Given the description of an element on the screen output the (x, y) to click on. 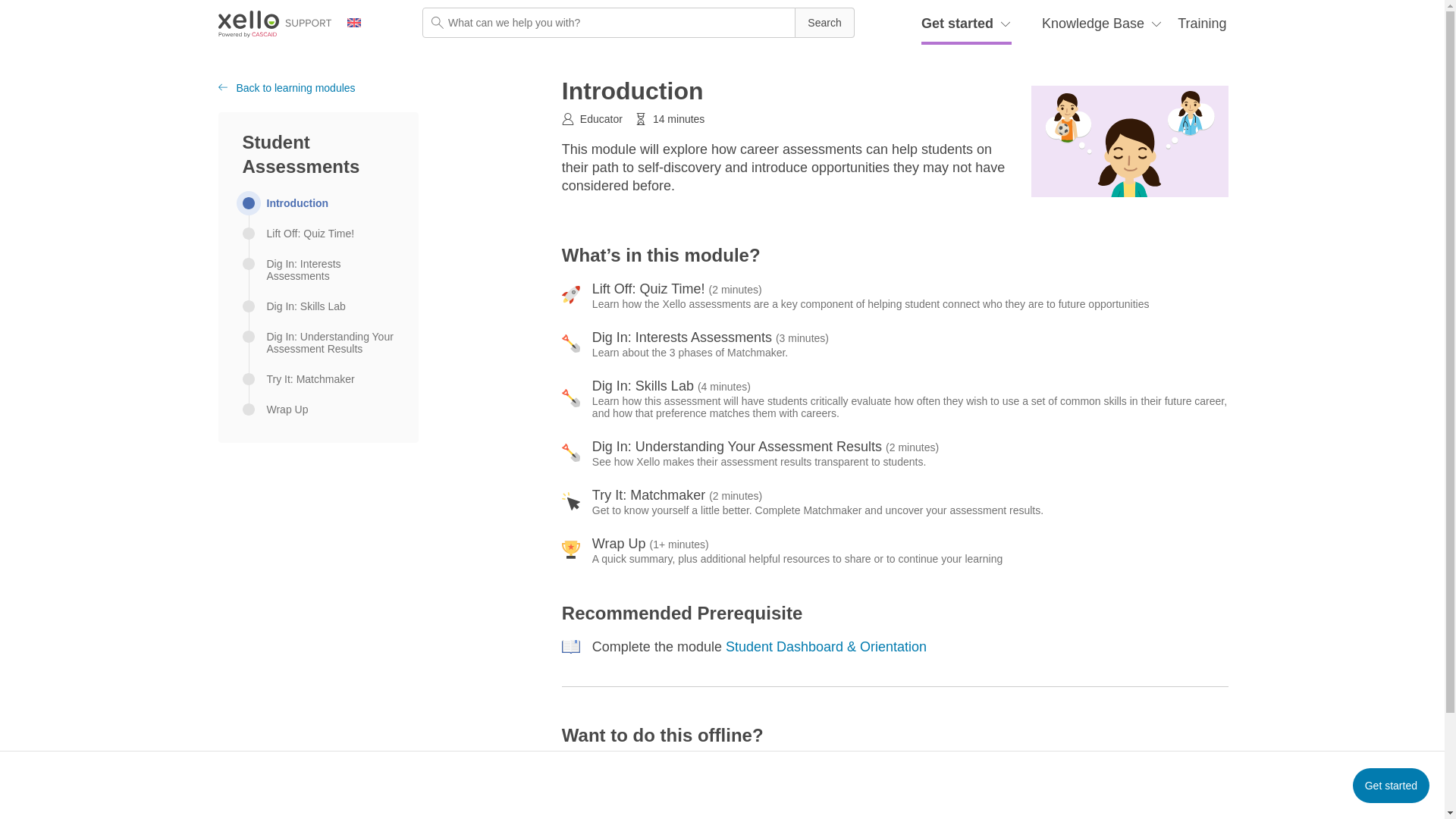
Navigate next (1390, 785)
Search (823, 22)
Change language (362, 22)
